Given the description of an element on the screen output the (x, y) to click on. 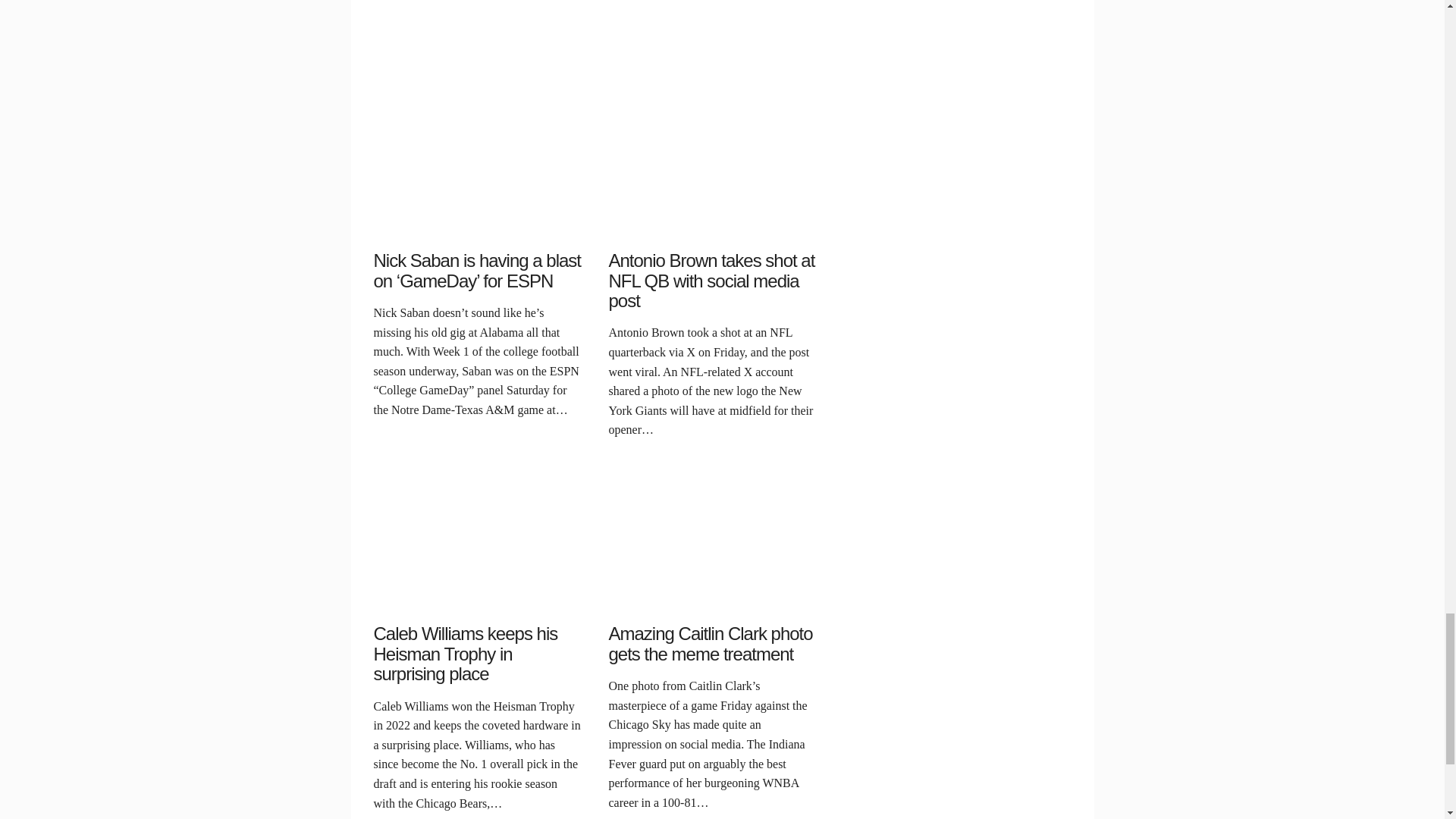
Amazing Caitlin Clark photo gets the meme treatment (714, 554)
Caleb Williams keeps his Heisman Trophy in surprising place (478, 554)
Antonio Brown takes shot at NFL QB with social media post (714, 182)
